Given the description of an element on the screen output the (x, y) to click on. 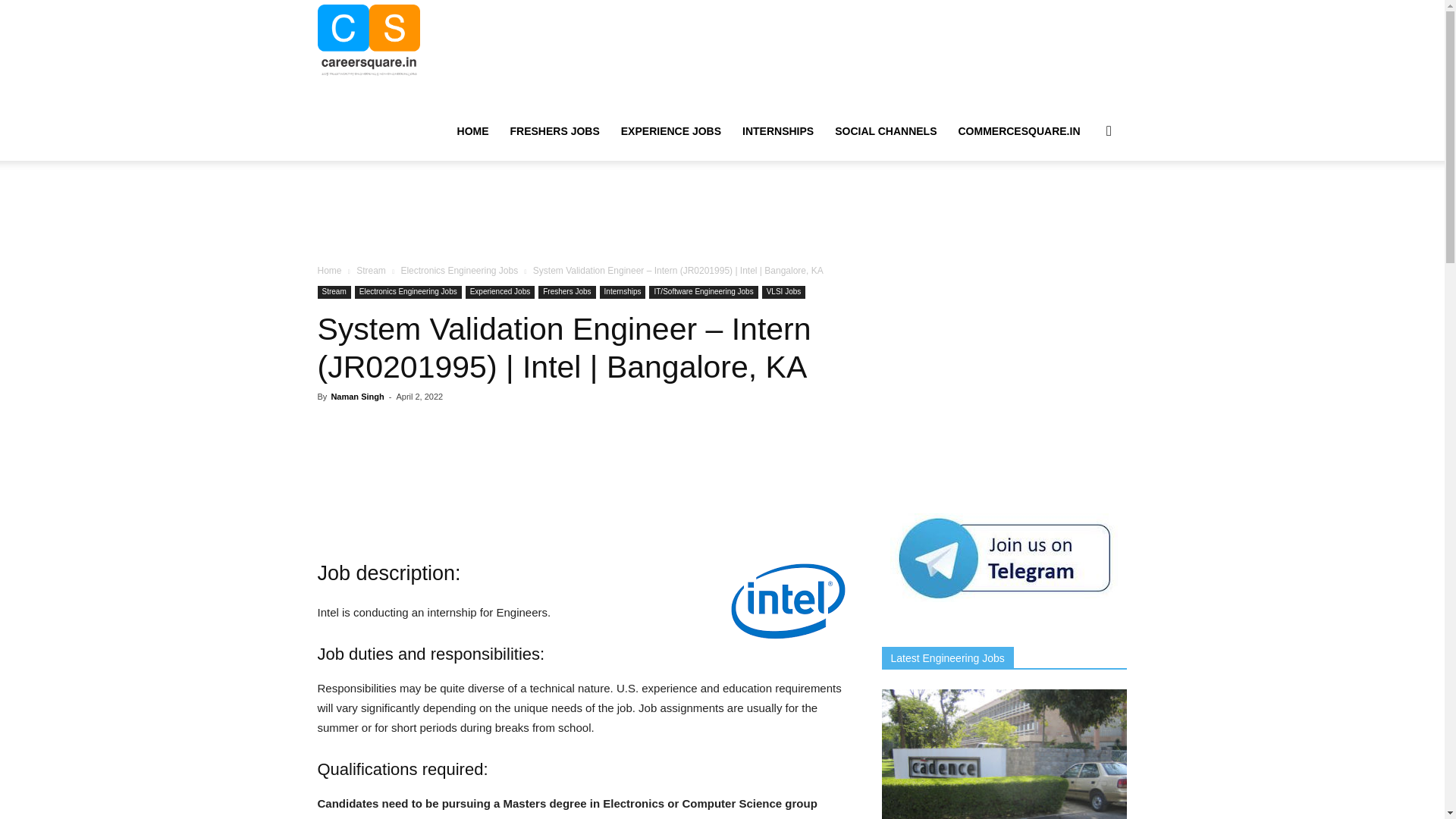
SOCIAL CHANNELS (885, 130)
INTERNSHIPS (778, 130)
Career Square (368, 39)
Stream (370, 270)
Freshers Jobs (566, 291)
COMMERCESQUARE.IN (1018, 130)
Experienced Jobs (500, 291)
View all posts in Stream (370, 270)
Advertisement (721, 213)
EXPERIENCE JOBS (671, 130)
Stream (333, 291)
Search (1085, 202)
View all posts in Electronics Engineering Jobs (459, 270)
FRESHERS JOBS (554, 130)
Home (328, 270)
